Given the description of an element on the screen output the (x, y) to click on. 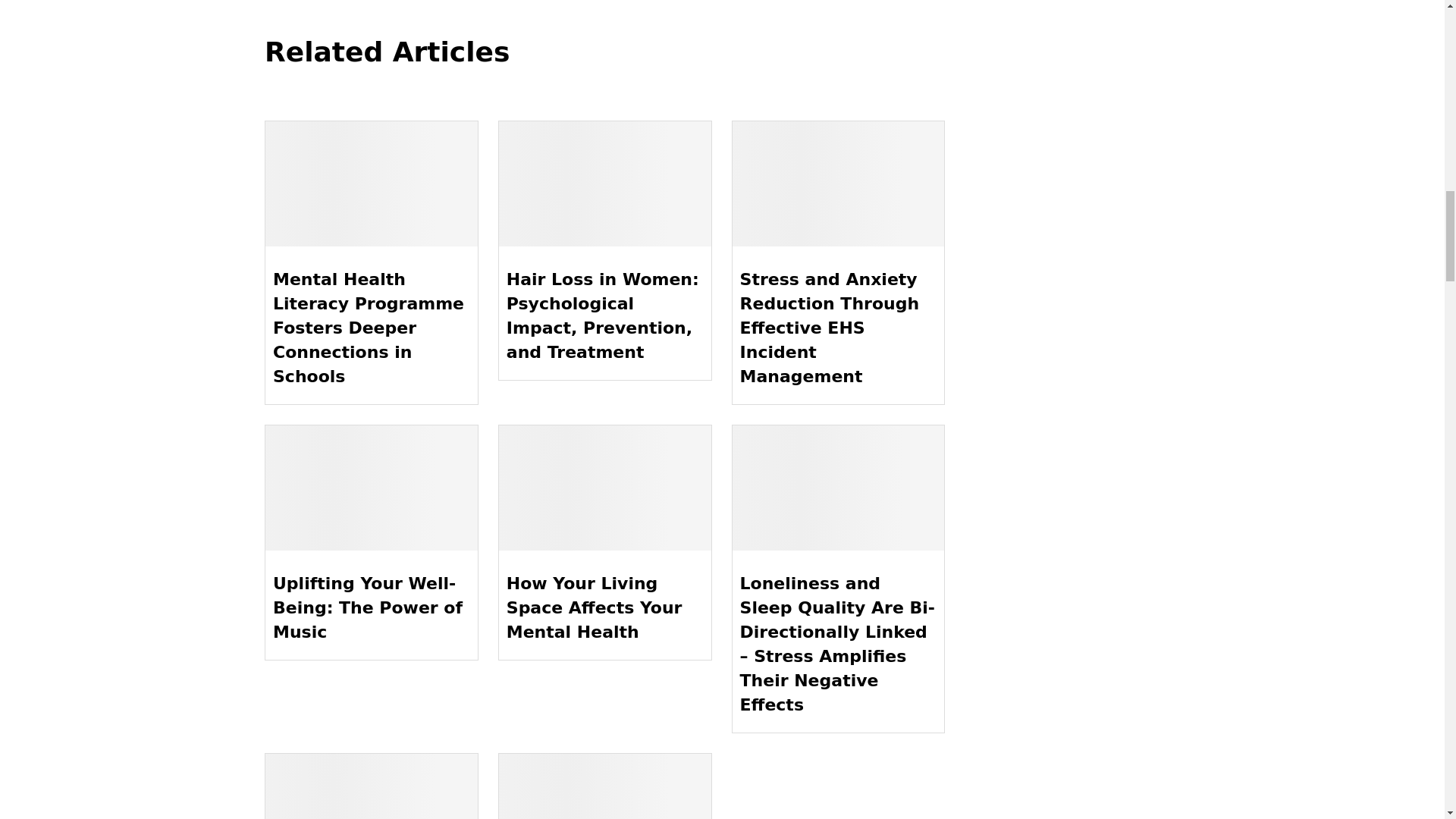
Understanding Depression and Anxiety After a Concussion (605, 786)
Uplifting Your Well-Being: The Power of Music (370, 487)
How Your Living Space Affects Your Mental Health (605, 487)
